Given the description of an element on the screen output the (x, y) to click on. 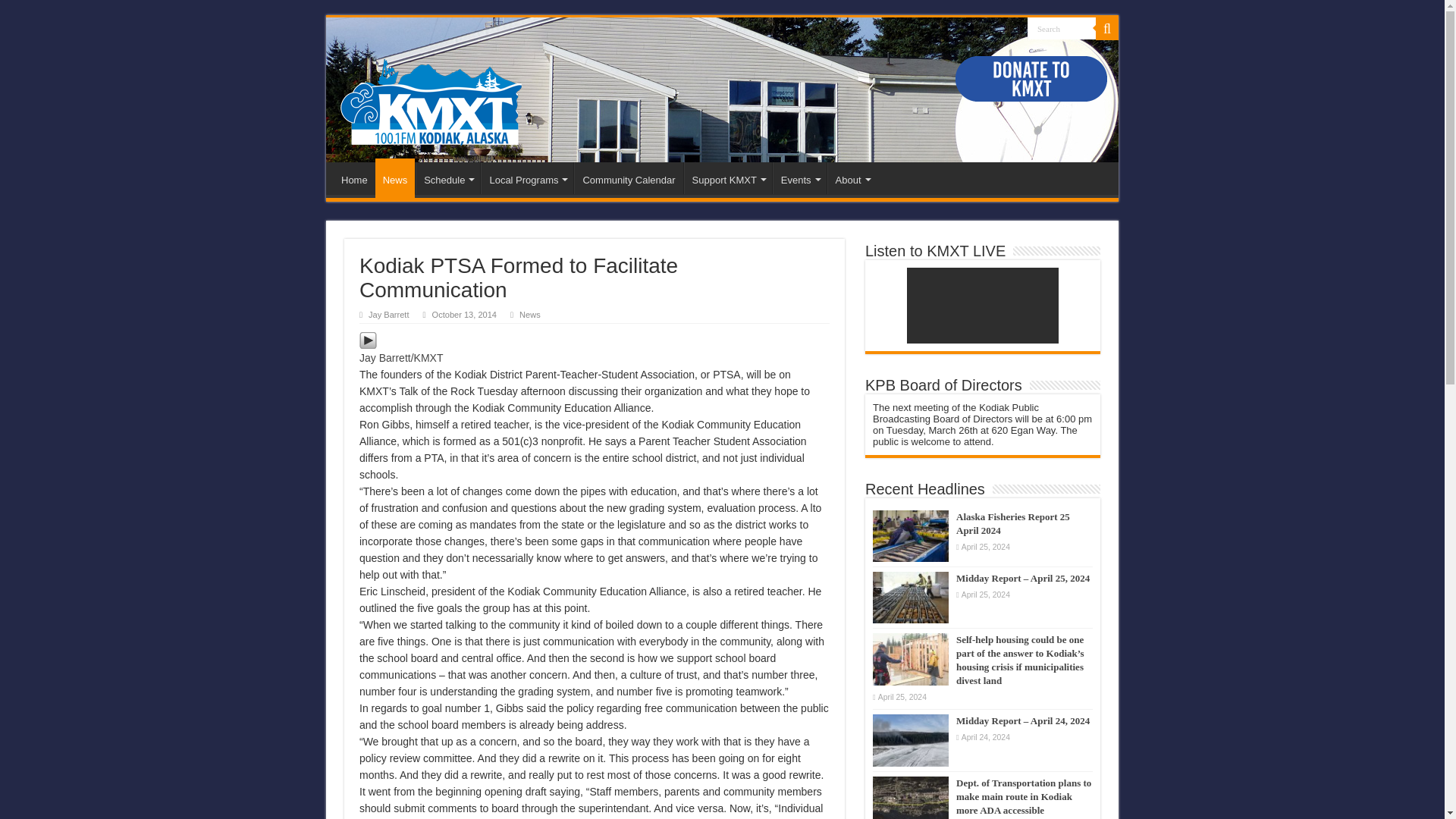
Facebook (999, 29)
Search (1061, 28)
KMXT 100.1 FM (430, 98)
Search (1061, 28)
instagram (1018, 29)
Play (368, 340)
Search (1061, 28)
Twitter (1008, 29)
Rss (988, 29)
Play (368, 339)
